Given the description of an element on the screen output the (x, y) to click on. 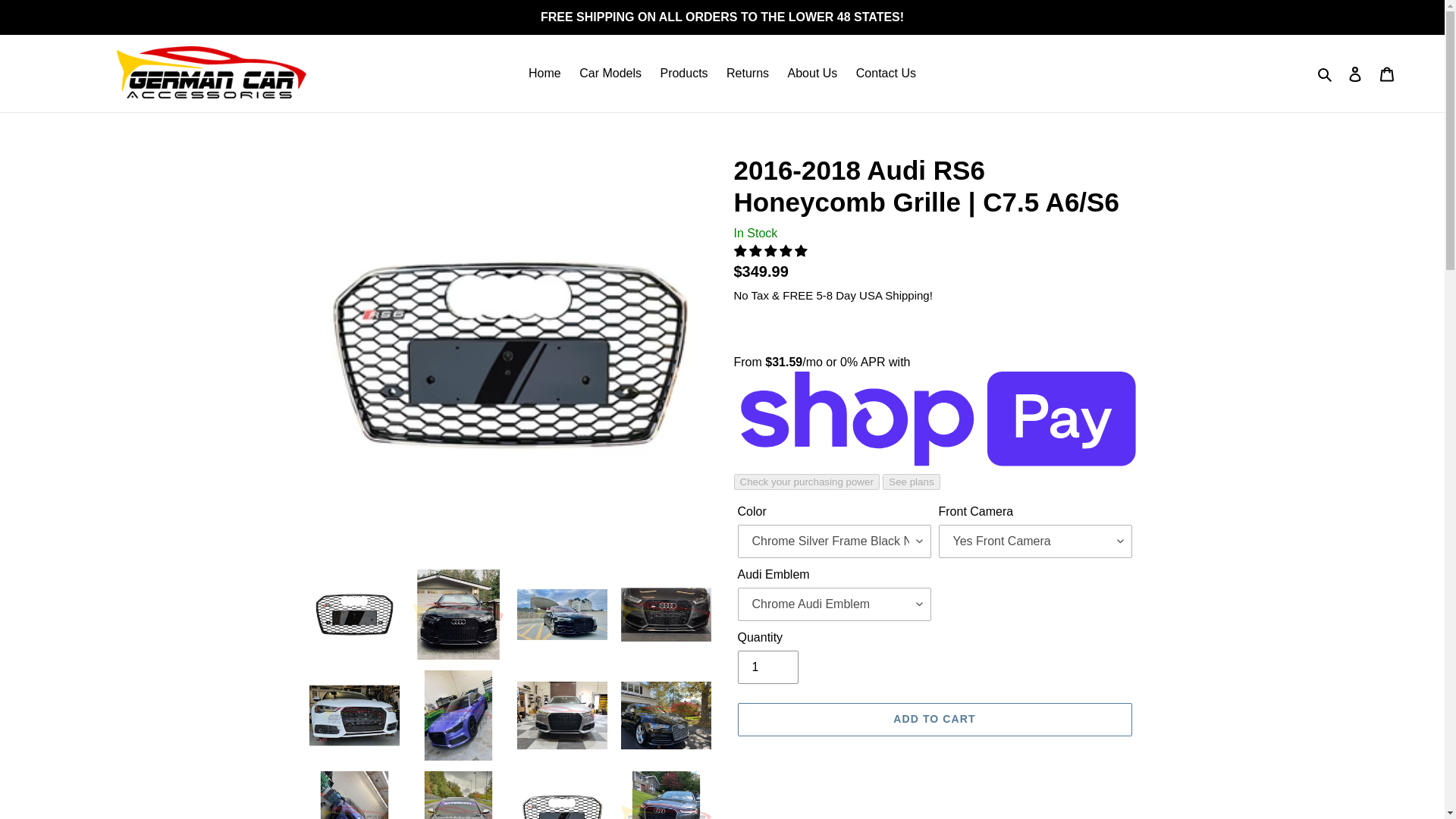
Search (1326, 73)
About Us (812, 73)
Car Models (610, 73)
Returns (747, 73)
Cart (1387, 73)
Contact Us (885, 73)
Products (683, 73)
Log in (1355, 73)
Home (545, 73)
1 (766, 666)
